Given the description of an element on the screen output the (x, y) to click on. 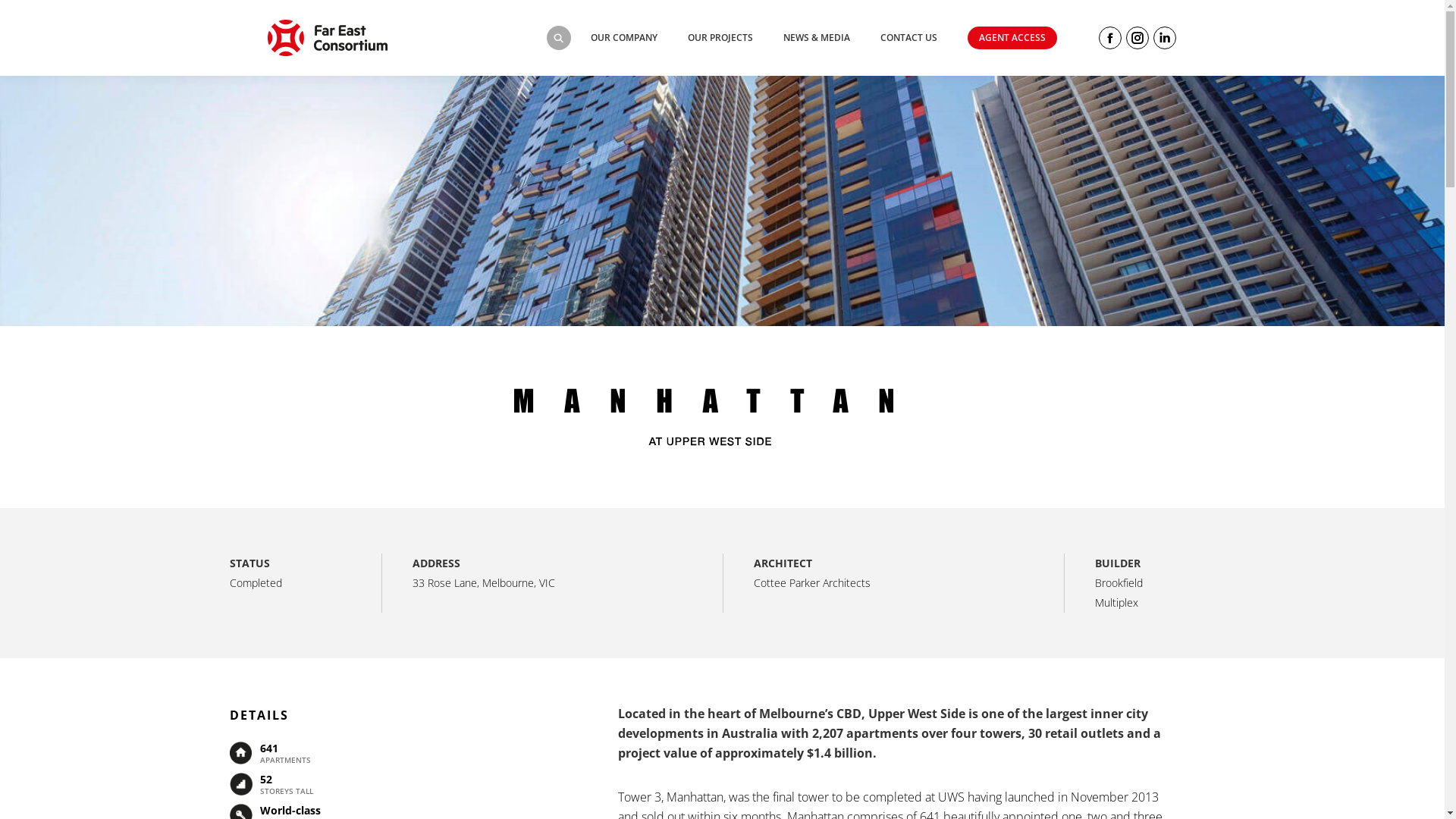
OUR PROJECTS Element type: text (734, 37)
CONTACT US Element type: text (922, 37)
Go! Element type: text (745, 445)
Linkedin page opens in new window Element type: text (1164, 37)
AGENT ACCESS Element type: text (1027, 37)
OUR COMPANY Element type: text (638, 37)
Instagram page opens in new window Element type: text (1137, 37)
Go! Element type: text (23, 15)
NEWS & MEDIA Element type: text (830, 37)
Facebook page opens in new window Element type: text (1110, 37)
